Given the description of an element on the screen output the (x, y) to click on. 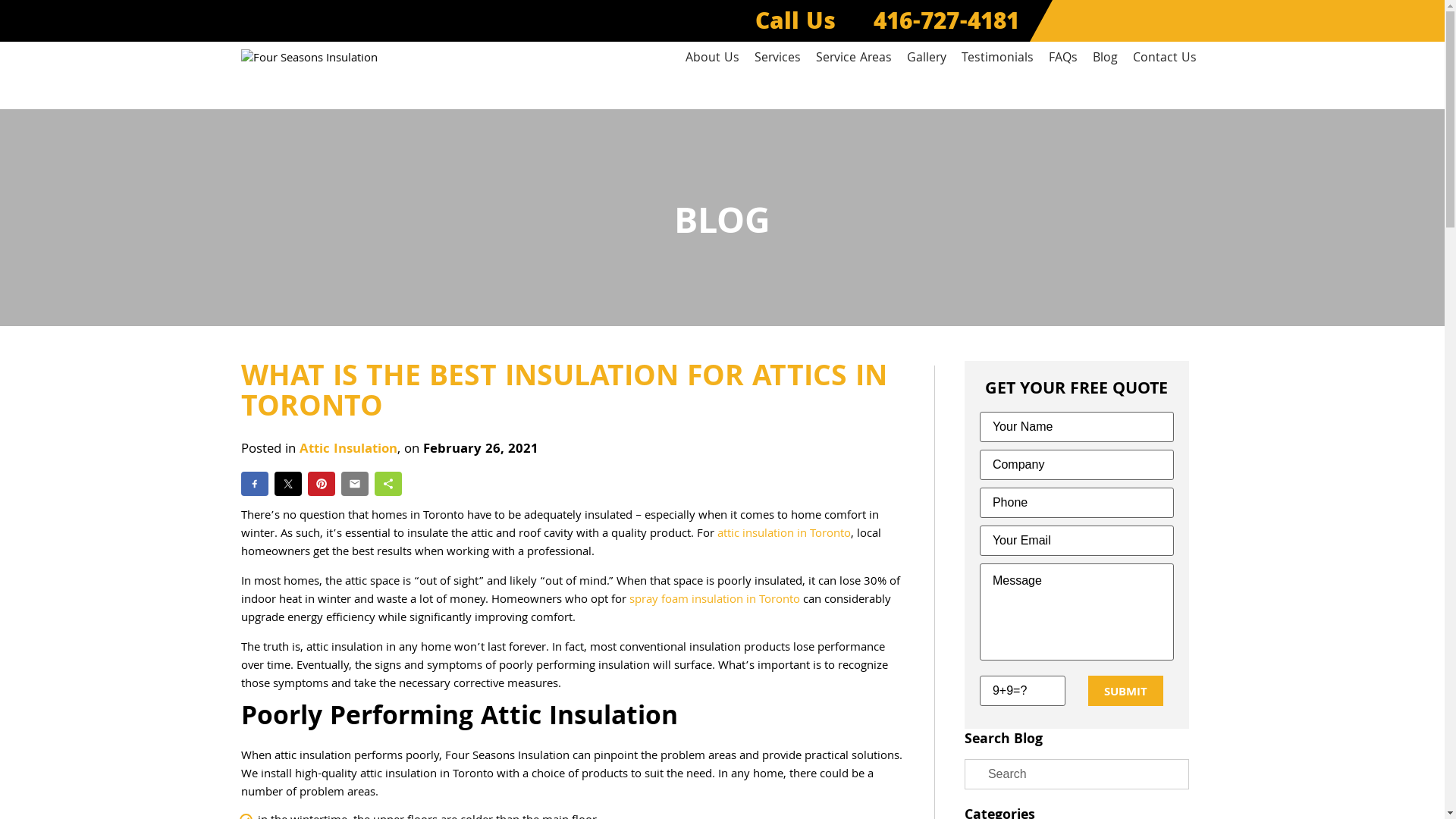
Gallery Element type: text (926, 58)
Service Areas Element type: text (853, 58)
FAQs Element type: text (1062, 58)
spray foam insulation in Toronto Element type: text (714, 600)
attic insulation in Toronto Element type: text (783, 534)
Services Element type: text (776, 58)
Blog Element type: text (1104, 58)
Contact Us Element type: text (1164, 58)
Call Us 416-727-4181 Element type: text (887, 23)
SUBMIT Element type: text (1125, 690)
About Us Element type: text (711, 58)
Attic Insulation Element type: text (347, 449)
Testimonials Element type: text (997, 58)
